Given the description of an element on the screen output the (x, y) to click on. 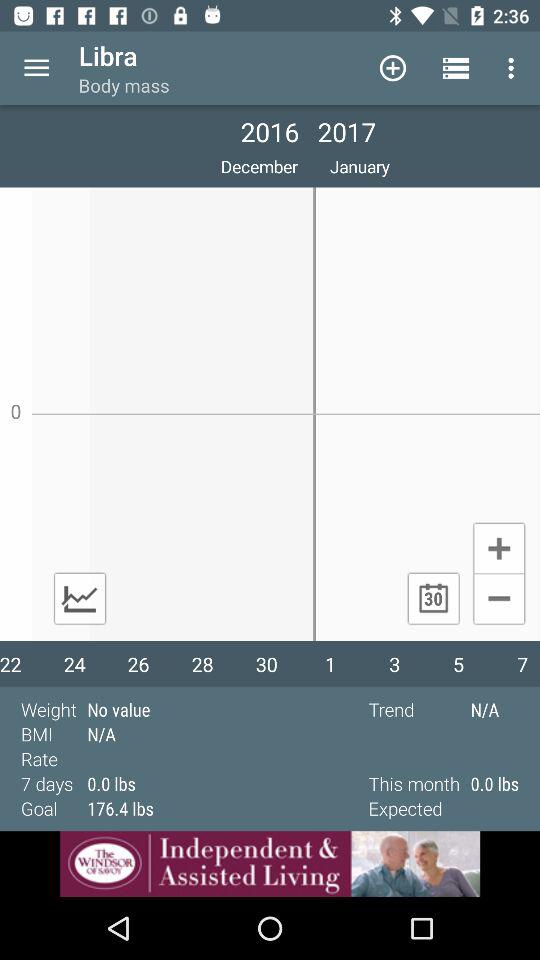
menu option (36, 68)
